Given the description of an element on the screen output the (x, y) to click on. 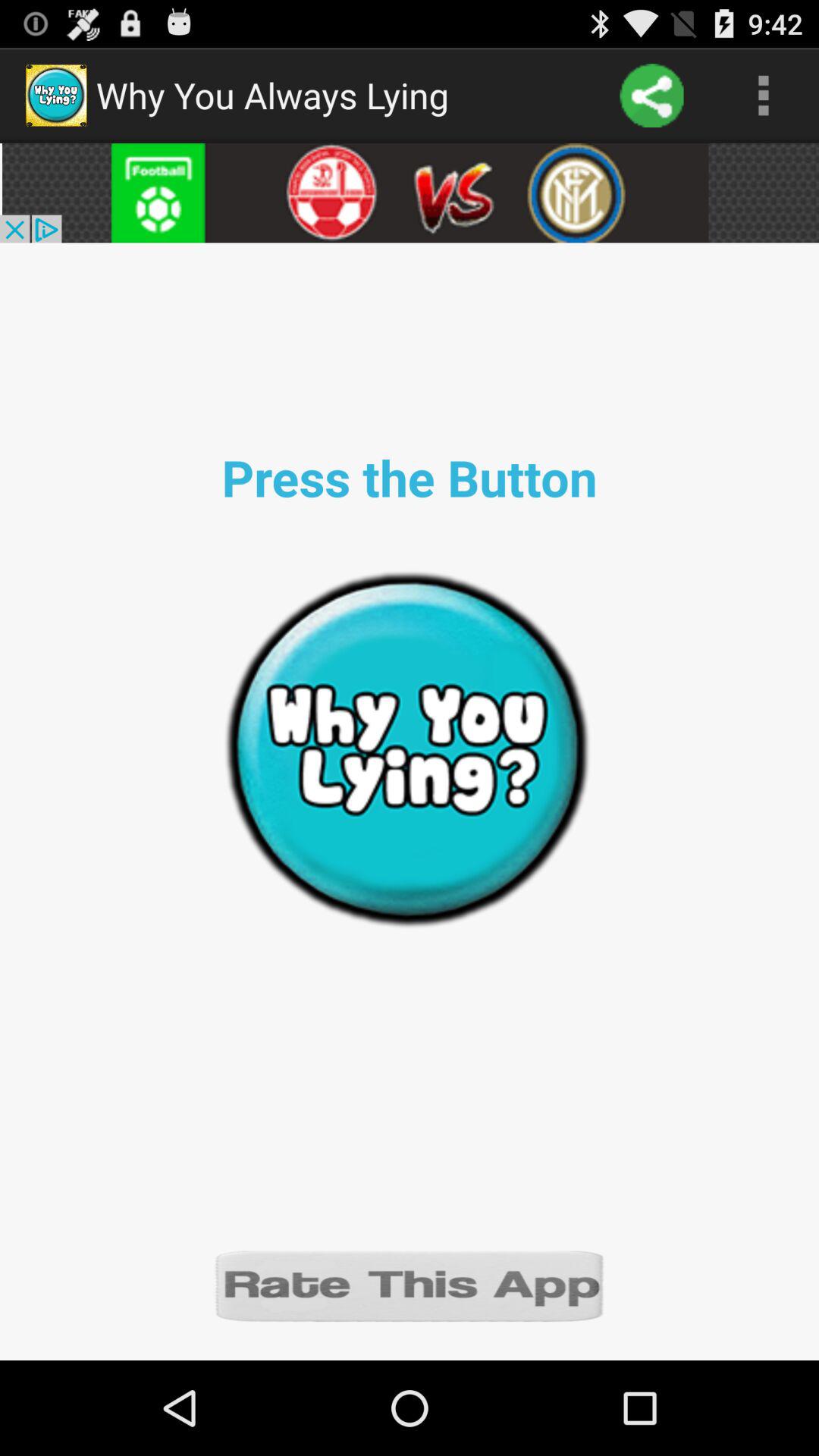
rate app (409, 1285)
